Given the description of an element on the screen output the (x, y) to click on. 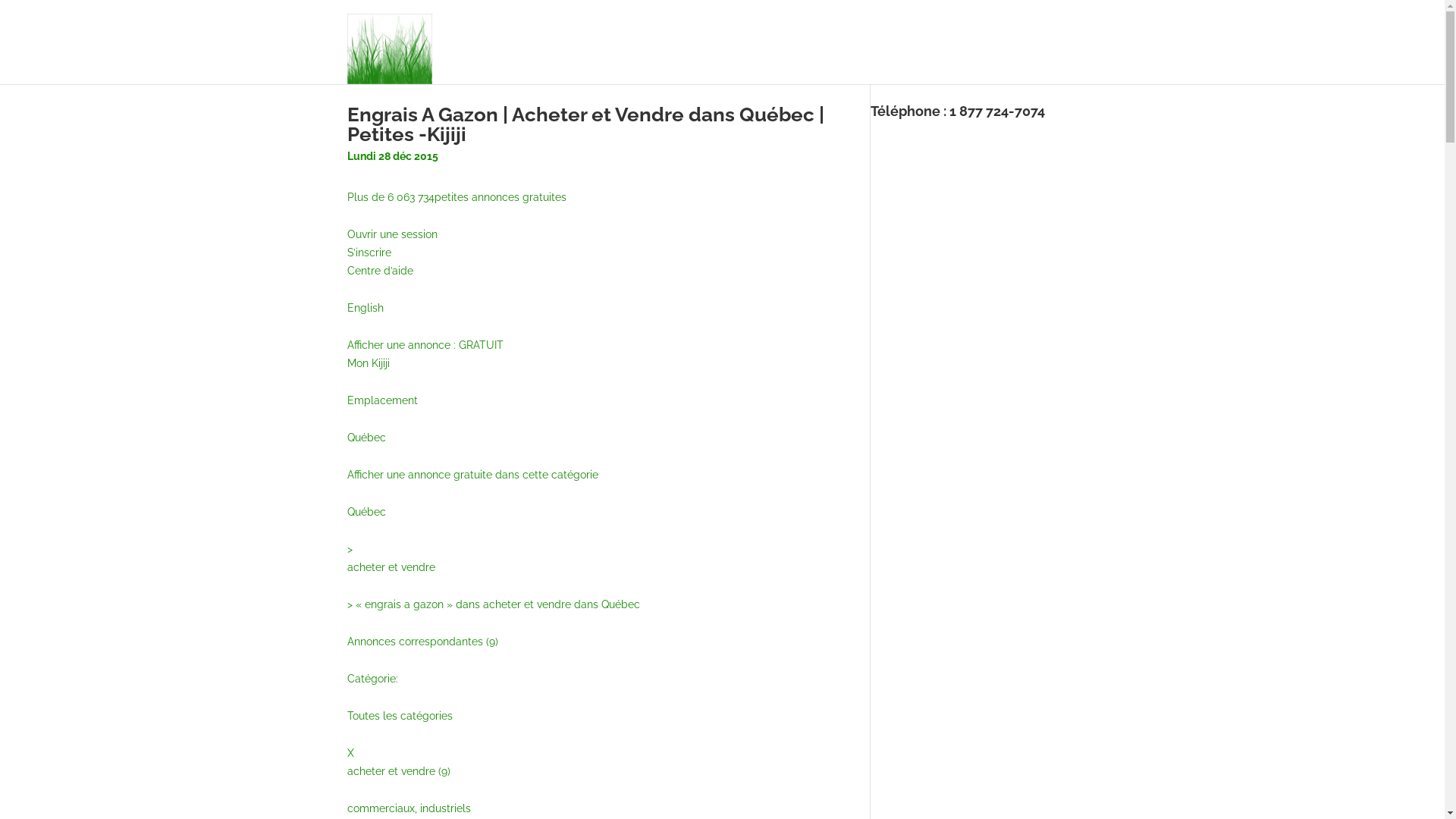
Advertisement Element type: hover (997, 231)
Advertisement Element type: hover (984, 569)
